Given the description of an element on the screen output the (x, y) to click on. 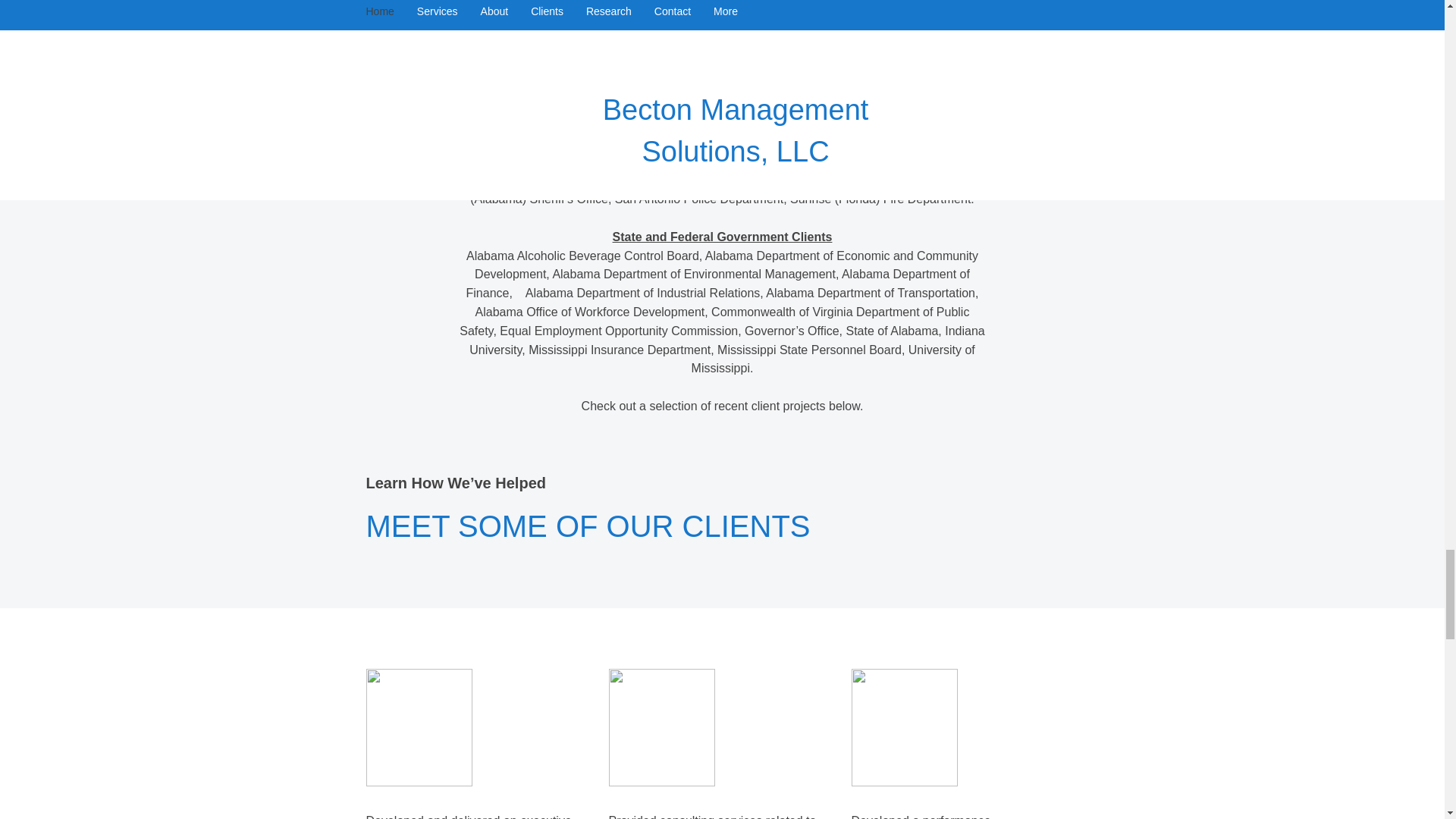
pbmhrcolor.jpg (903, 727)
SSC Logo.png (661, 727)
